Given the description of an element on the screen output the (x, y) to click on. 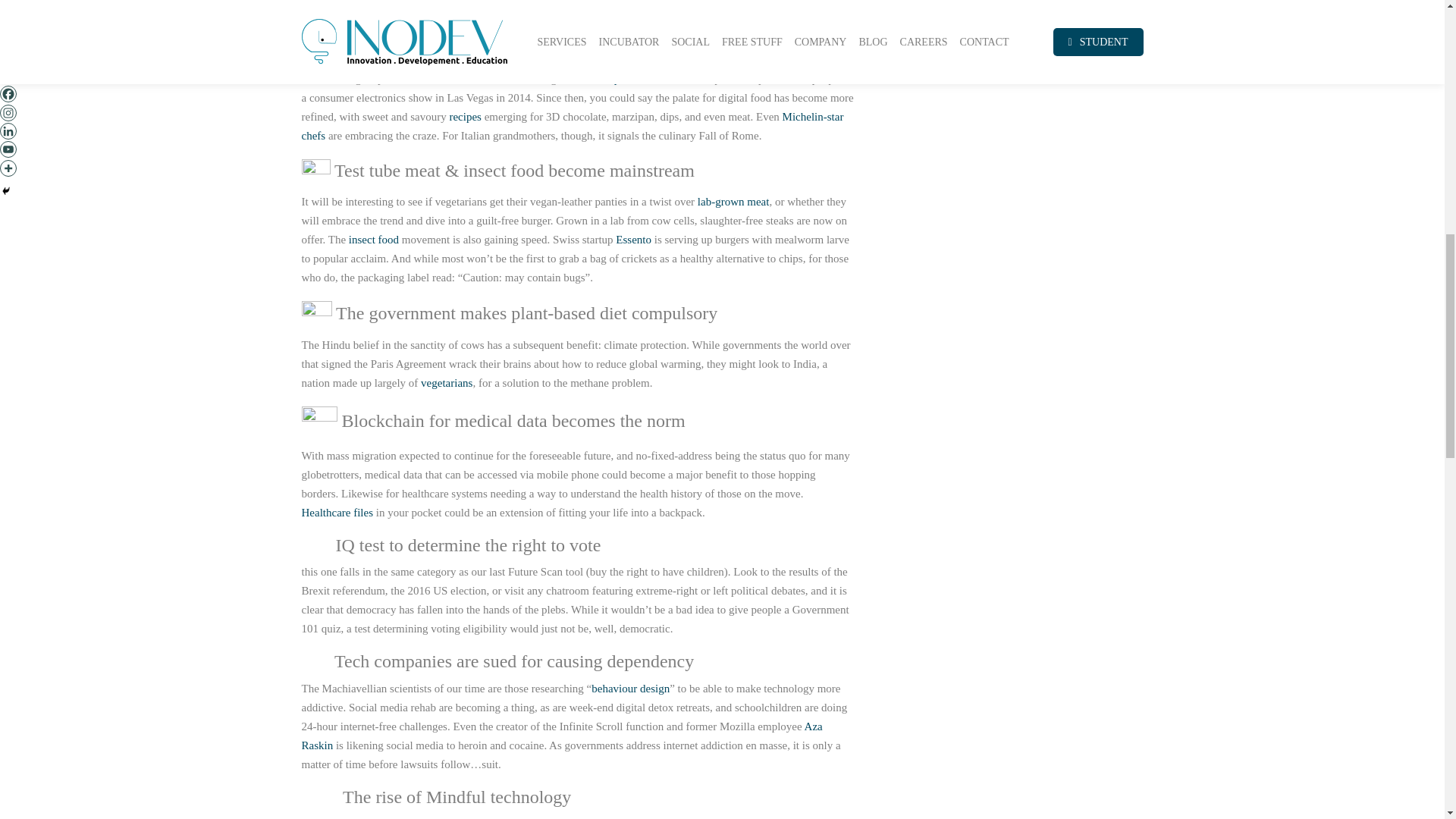
behaviour design (630, 688)
Michelin-star chefs (572, 125)
3D printed food (632, 78)
insect food (373, 239)
ab-grown meat (734, 201)
Aza Raskin (561, 735)
recipes (464, 116)
Healthcare files (337, 512)
Essento (632, 239)
vegetarians (445, 382)
